Given the description of an element on the screen output the (x, y) to click on. 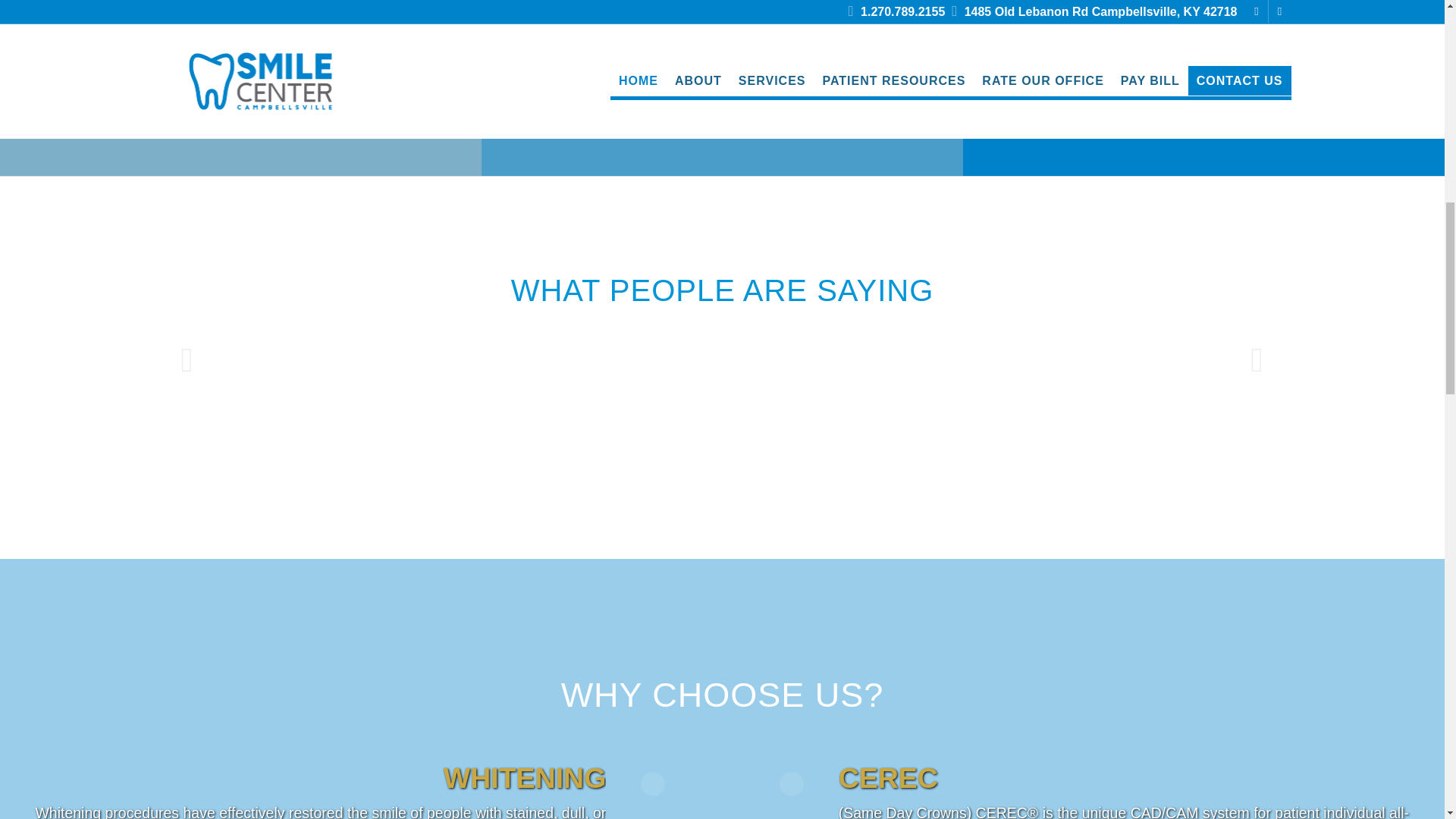
ORTHODONTICS (239, 90)
Aesthetics (1203, 29)
CEREC (721, 90)
Aesthetics (1203, 90)
Orthodontics (239, 90)
CEREC (721, 90)
Orthodontics (239, 29)
CEREC (721, 29)
